Given the description of an element on the screen output the (x, y) to click on. 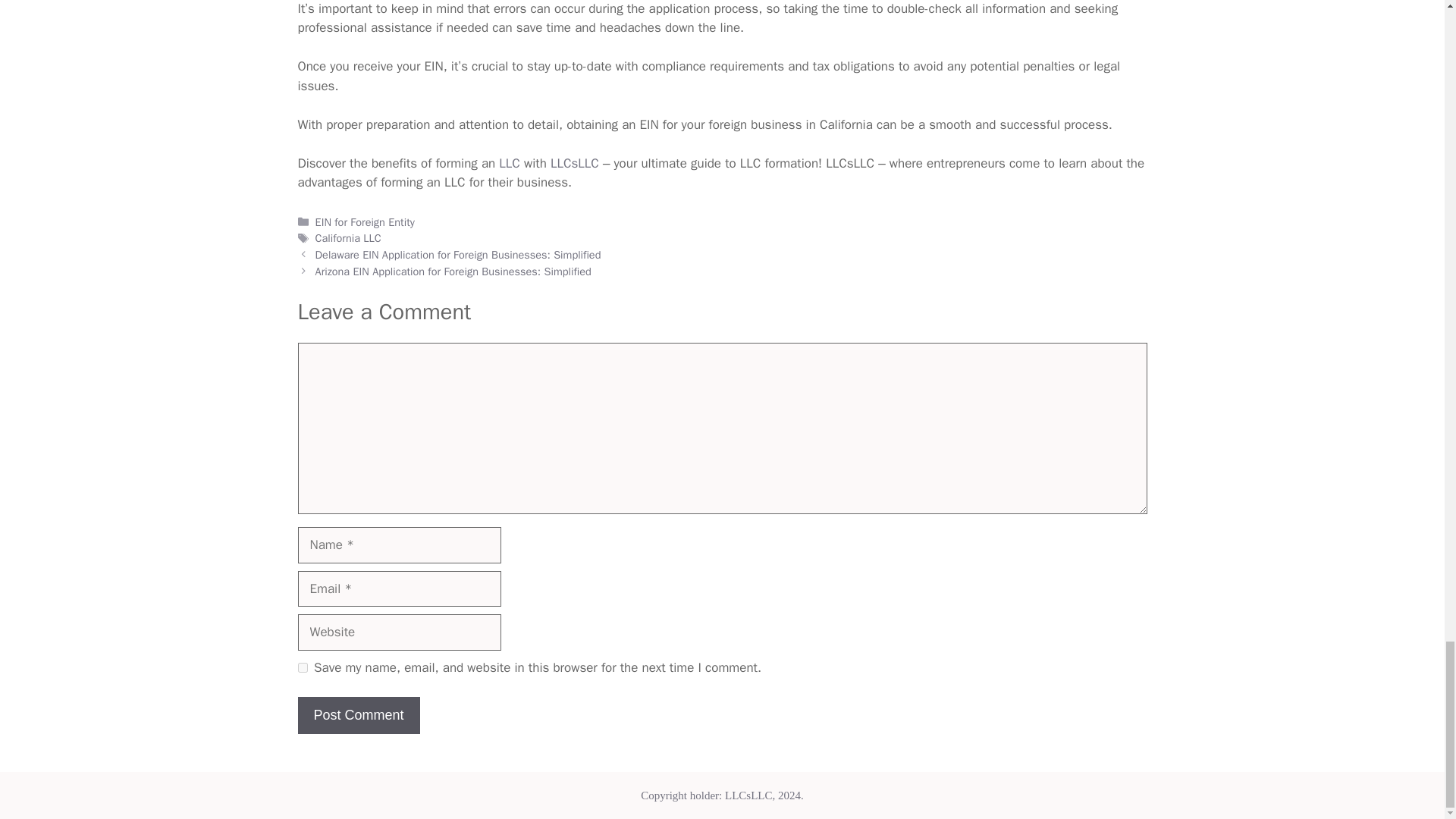
yes (302, 667)
Arizona EIN Application for Foreign Businesses: Simplified (453, 271)
EIN for Foreign Entity (364, 222)
LLCsLLC (574, 163)
LLCsLLC (574, 163)
LLC (509, 163)
Post Comment (358, 714)
Delaware EIN Application for Foreign Businesses: Simplified (458, 254)
How to Make an LLC in 2024: A Comprehensive Guide (509, 163)
California LLC (348, 237)
